Given the description of an element on the screen output the (x, y) to click on. 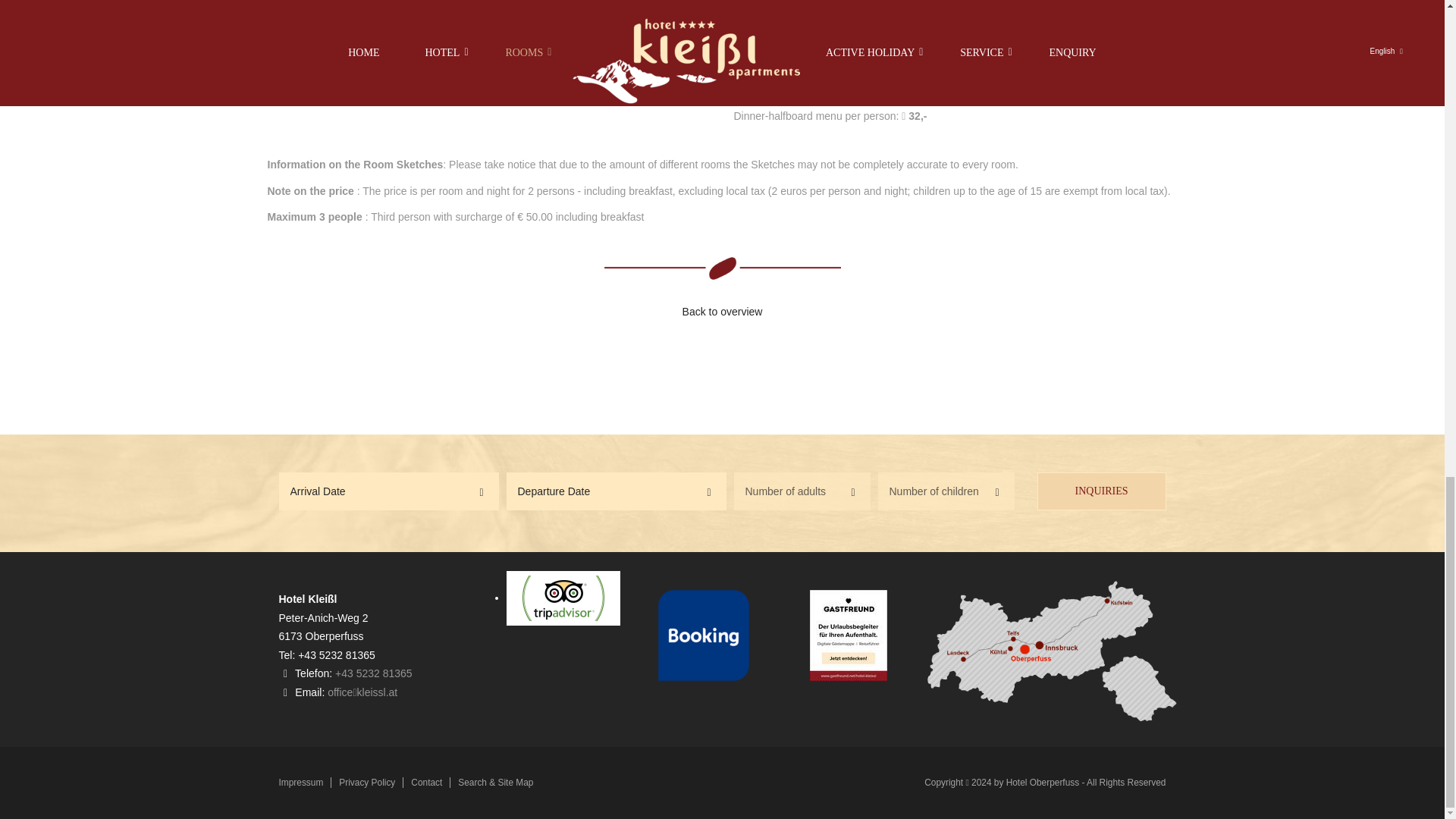
Inquiries (1101, 491)
